Given the description of an element on the screen output the (x, y) to click on. 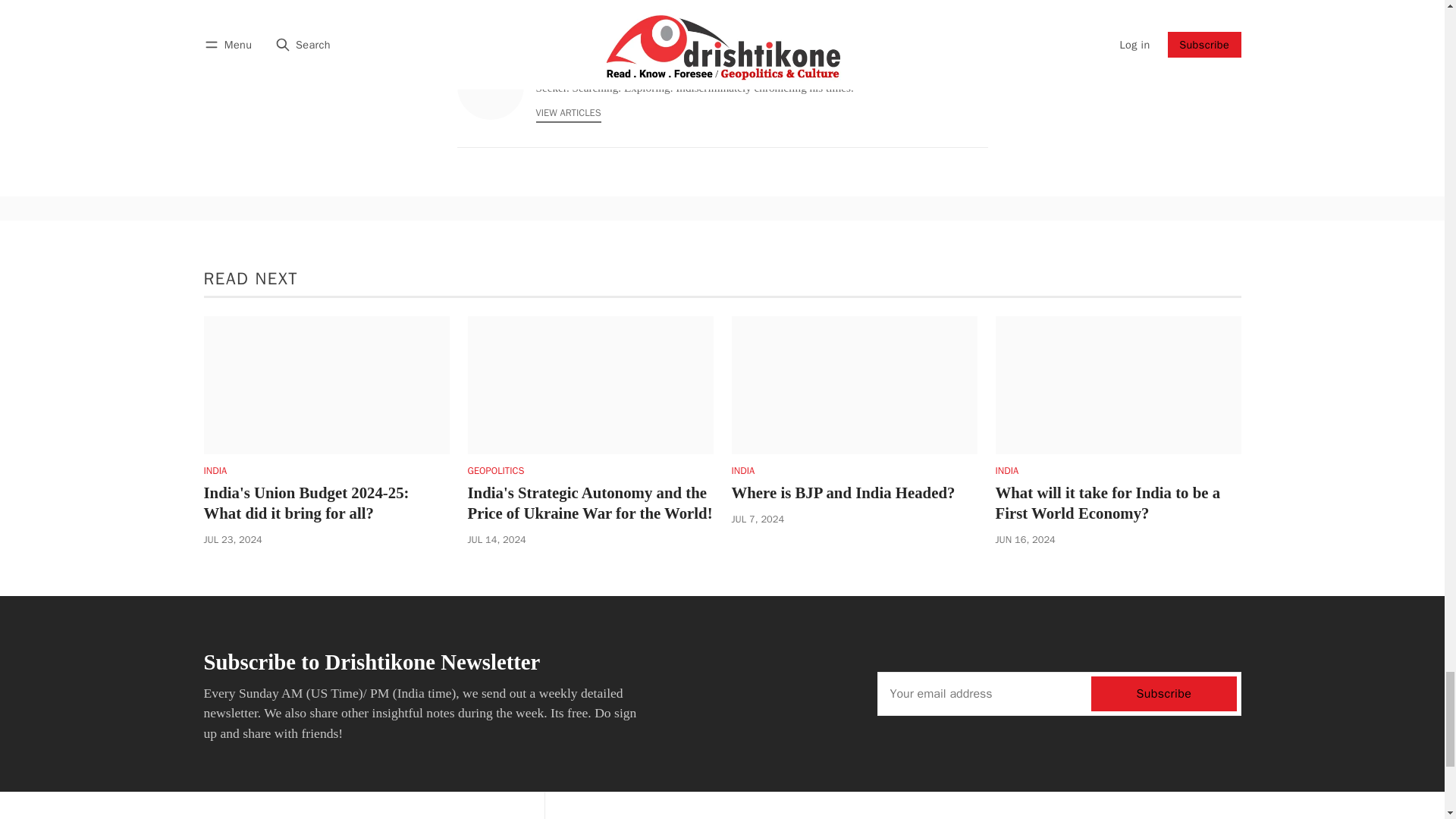
Twitter (959, 62)
Website (978, 62)
